Given the description of an element on the screen output the (x, y) to click on. 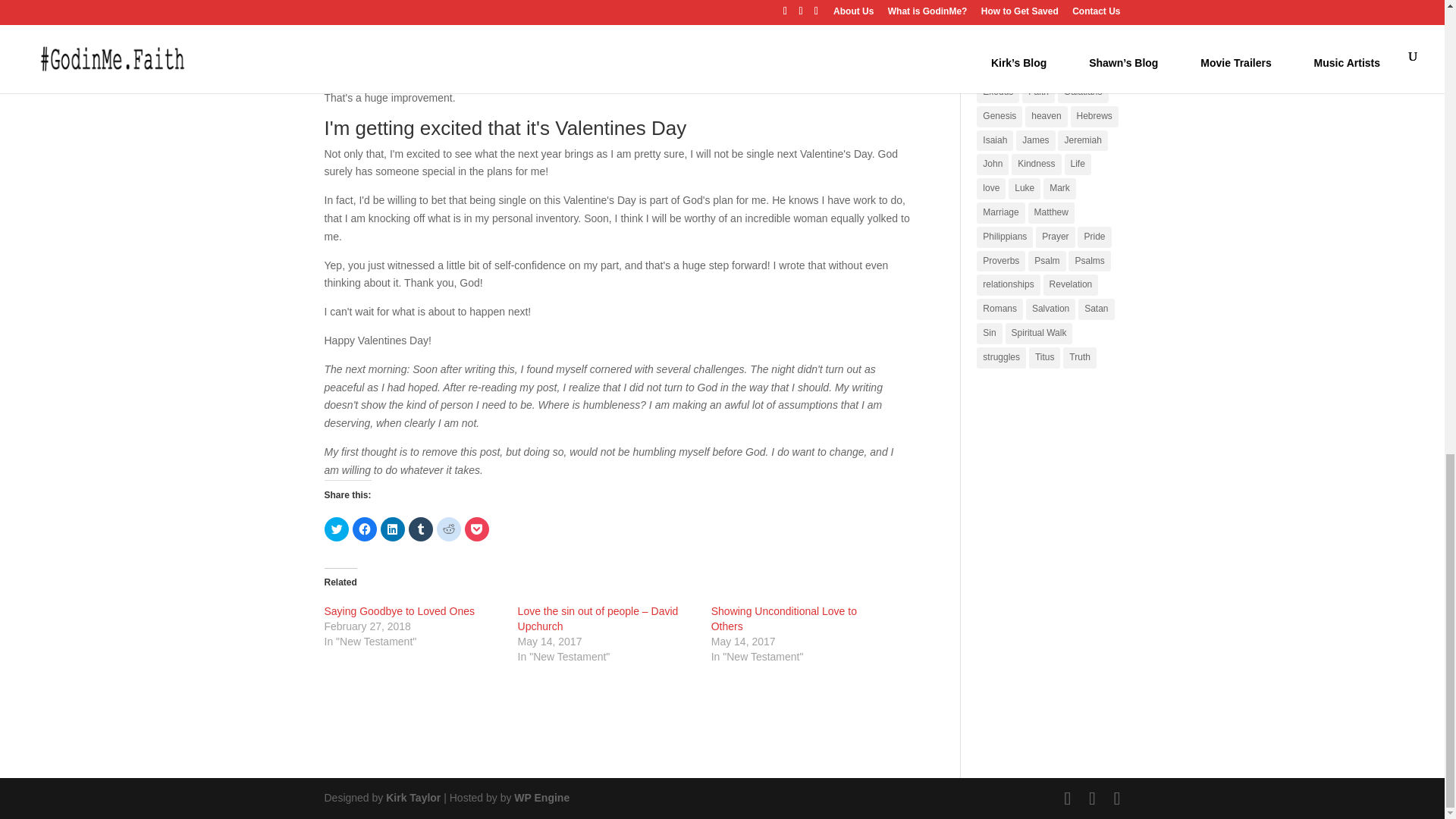
Showing Unconditional Love to Others (784, 618)
Saying Goodbye to Loved Ones (399, 611)
Click to share on Reddit (448, 528)
Click to share on Twitter (336, 528)
Click to share on LinkedIn (392, 528)
Kirk Taylor (413, 797)
Click to share on Facebook (363, 528)
Click to share on Tumblr (419, 528)
Saying Goodbye to Loved Ones (399, 611)
WP Engine (541, 797)
being single (400, 79)
Showing Unconditional Love to Others (784, 618)
Click to share on Pocket (475, 528)
